Given the description of an element on the screen output the (x, y) to click on. 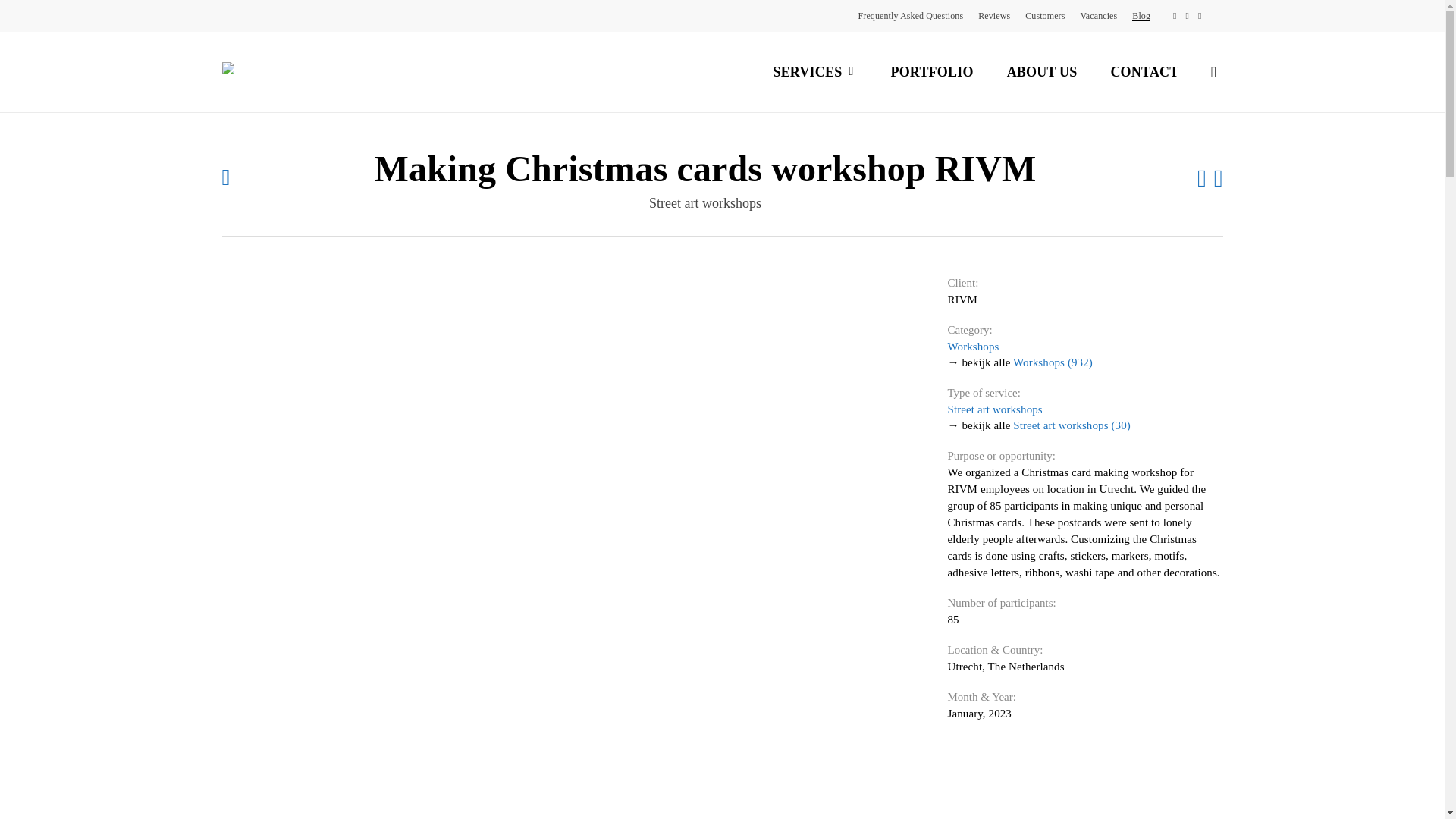
Vacancies (1098, 15)
SERVICES (815, 72)
PORTFOLIO (930, 71)
Blog (1141, 15)
Blog (1141, 15)
Contact (1143, 71)
Frequently Asked Questions (911, 15)
Reviews (994, 15)
Services (815, 72)
Frequently Asked Questions (911, 15)
Customers (1044, 15)
Reviews (994, 15)
Customers (1044, 15)
Vacancies (1098, 15)
About Graffitinetwerk (1042, 71)
